Given the description of an element on the screen output the (x, y) to click on. 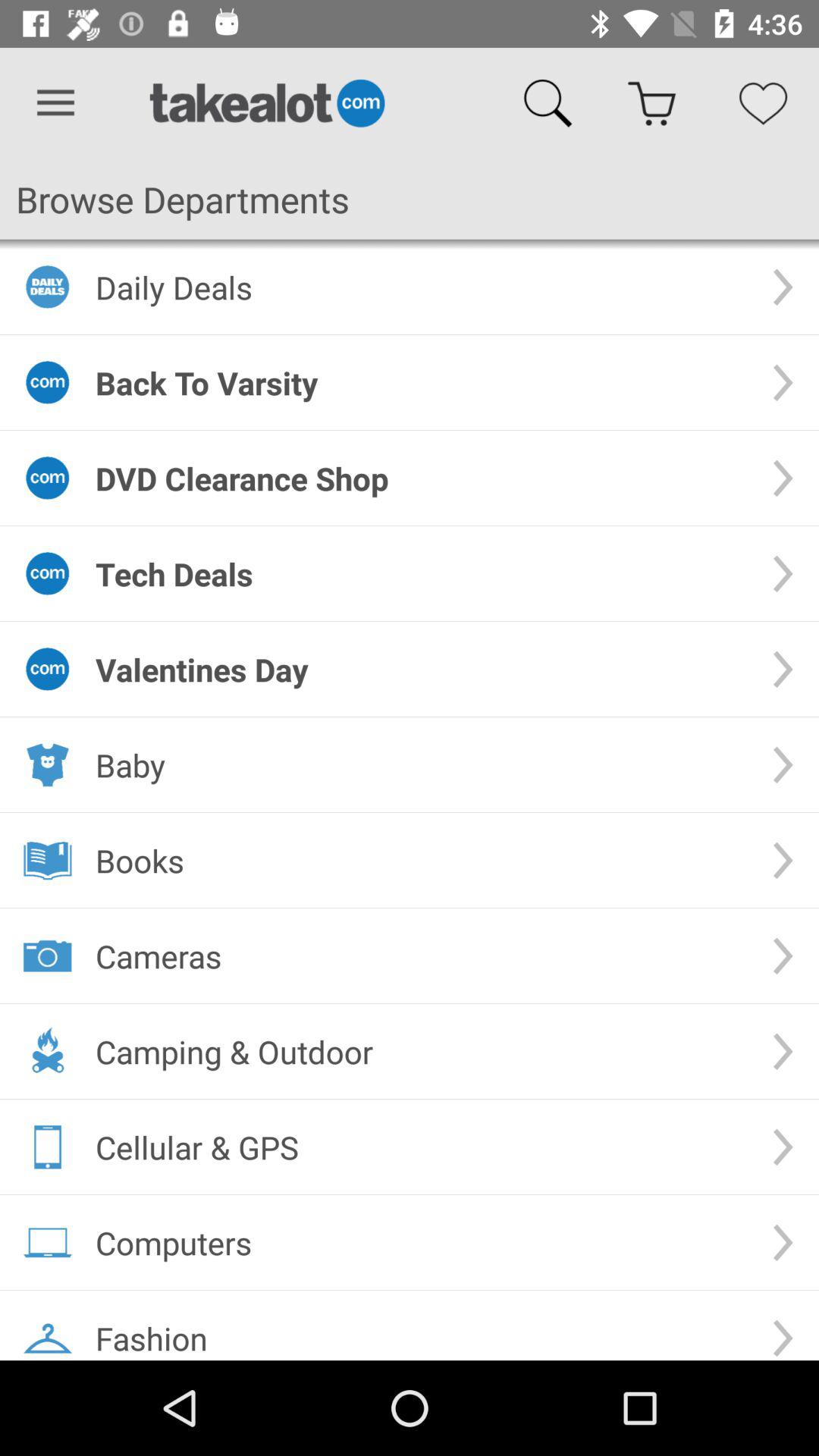
jump until the tech deals item (421, 573)
